Given the description of an element on the screen output the (x, y) to click on. 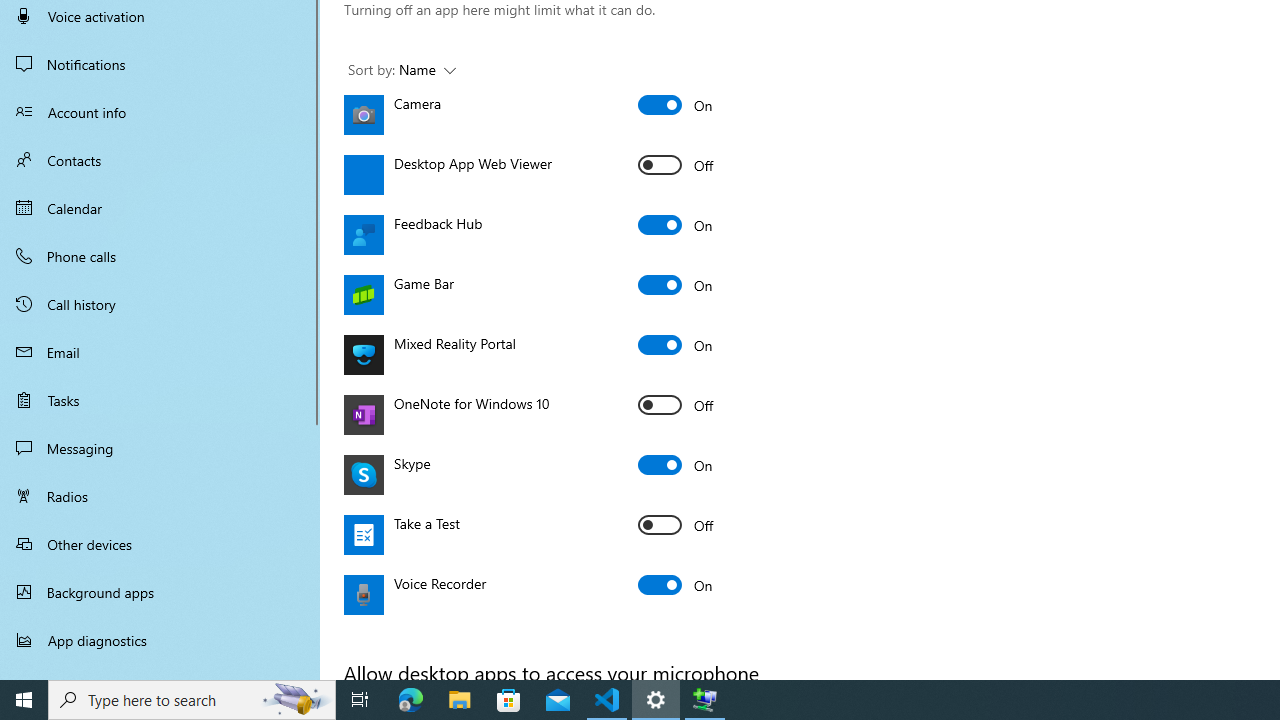
Take a Test (675, 524)
Phone calls (160, 255)
Messaging (160, 448)
Tasks (160, 399)
Radios (160, 495)
Account info (160, 111)
OneNote for Windows 10 (675, 404)
Skype (675, 464)
Calendar (160, 207)
Desktop App Web Viewer (675, 164)
